Given the description of an element on the screen output the (x, y) to click on. 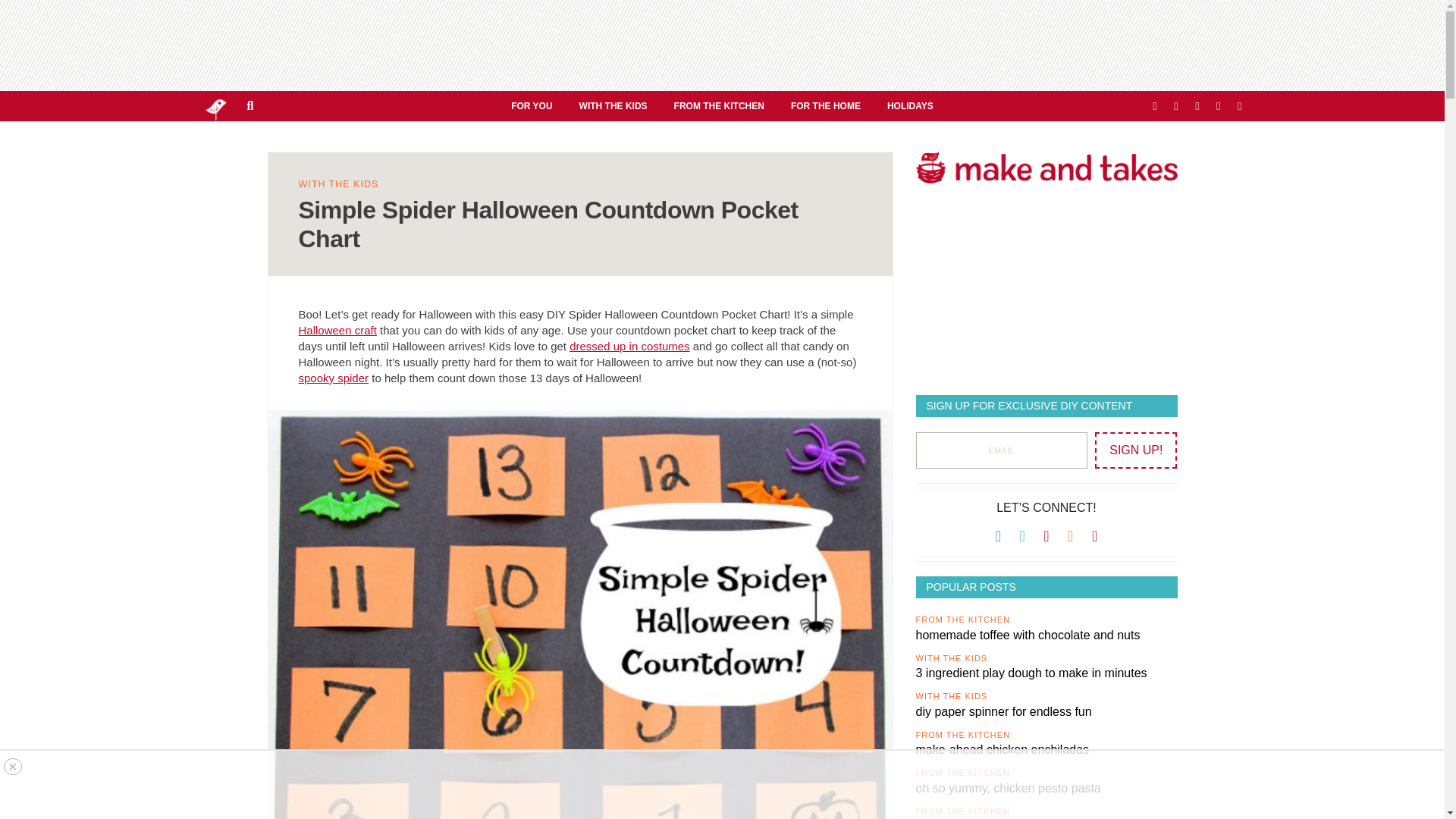
FROM THE KITCHEN (719, 105)
FOR YOU (531, 105)
WITH THE KIDS (613, 105)
